Given the description of an element on the screen output the (x, y) to click on. 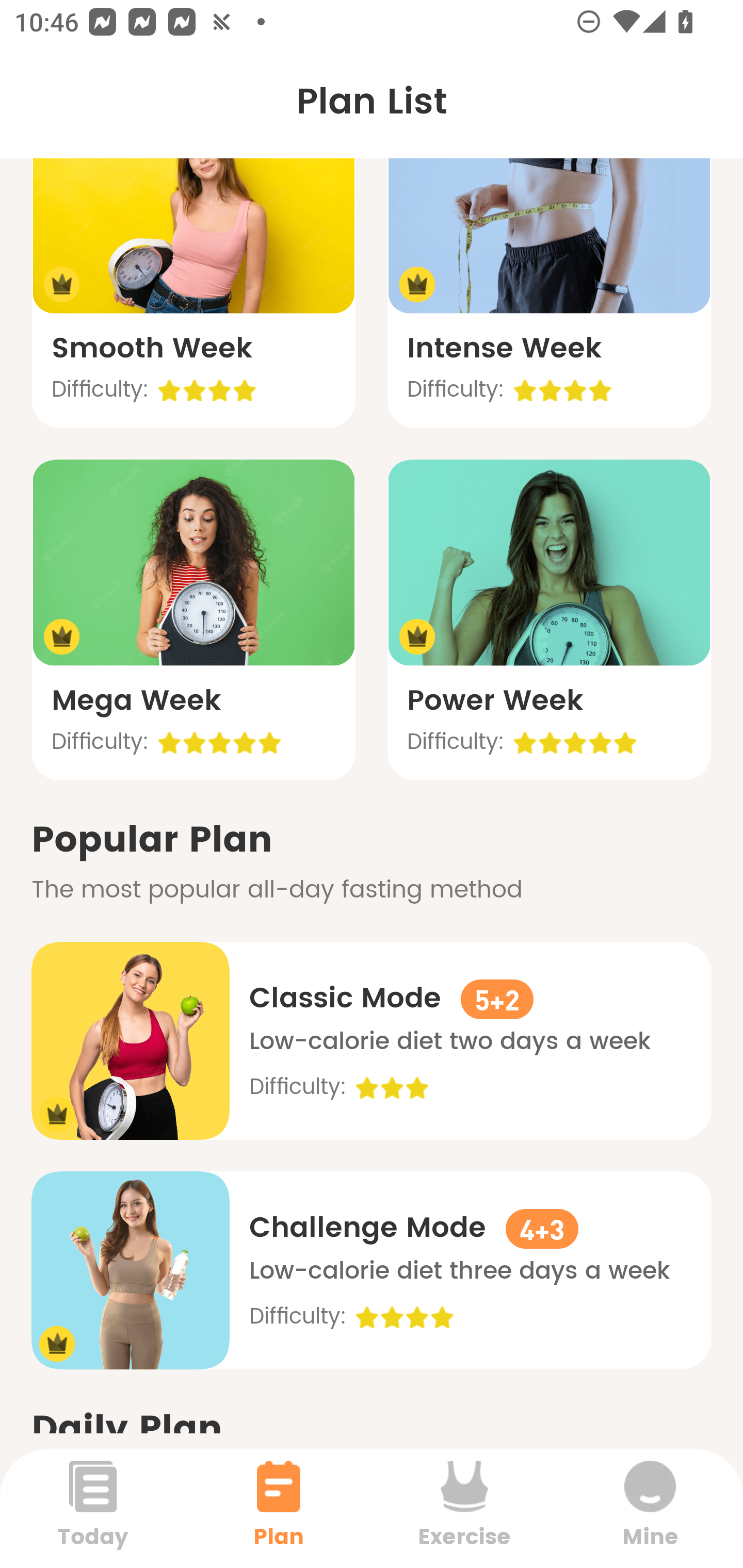
Smooth Week Difficulty: 4.0 (193, 267)
Intense Week Difficulty: 4.0 (549, 267)
Mega Week Difficulty: 5.0 (193, 619)
Power Week Difficulty: 5.0 (549, 619)
Today (92, 1508)
Exercise (464, 1508)
Mine (650, 1508)
